Given the description of an element on the screen output the (x, y) to click on. 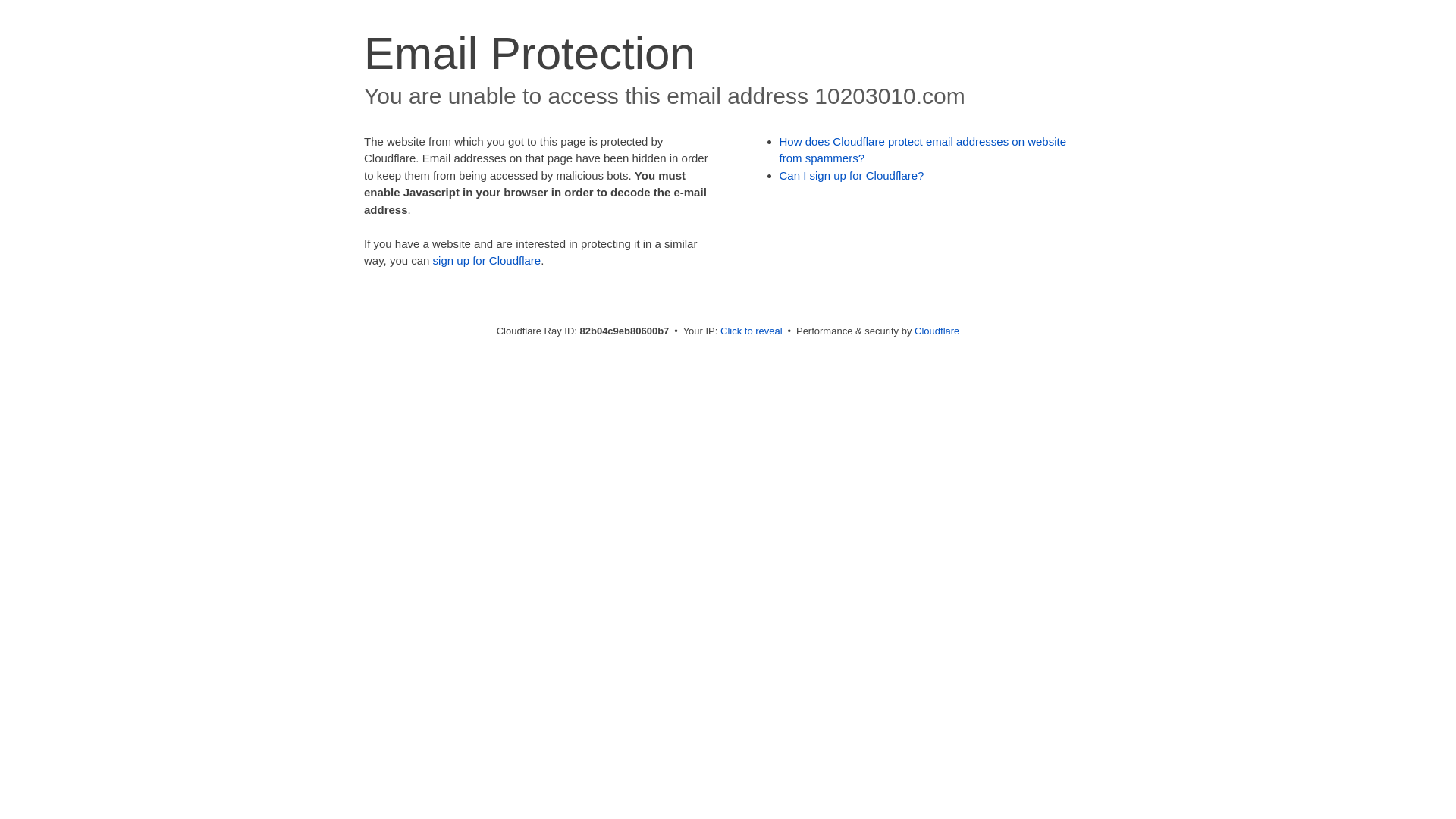
Cloudflare Element type: text (936, 330)
Click to reveal Element type: text (751, 330)
Can I sign up for Cloudflare? Element type: text (851, 175)
sign up for Cloudflare Element type: text (487, 260)
